Given the description of an element on the screen output the (x, y) to click on. 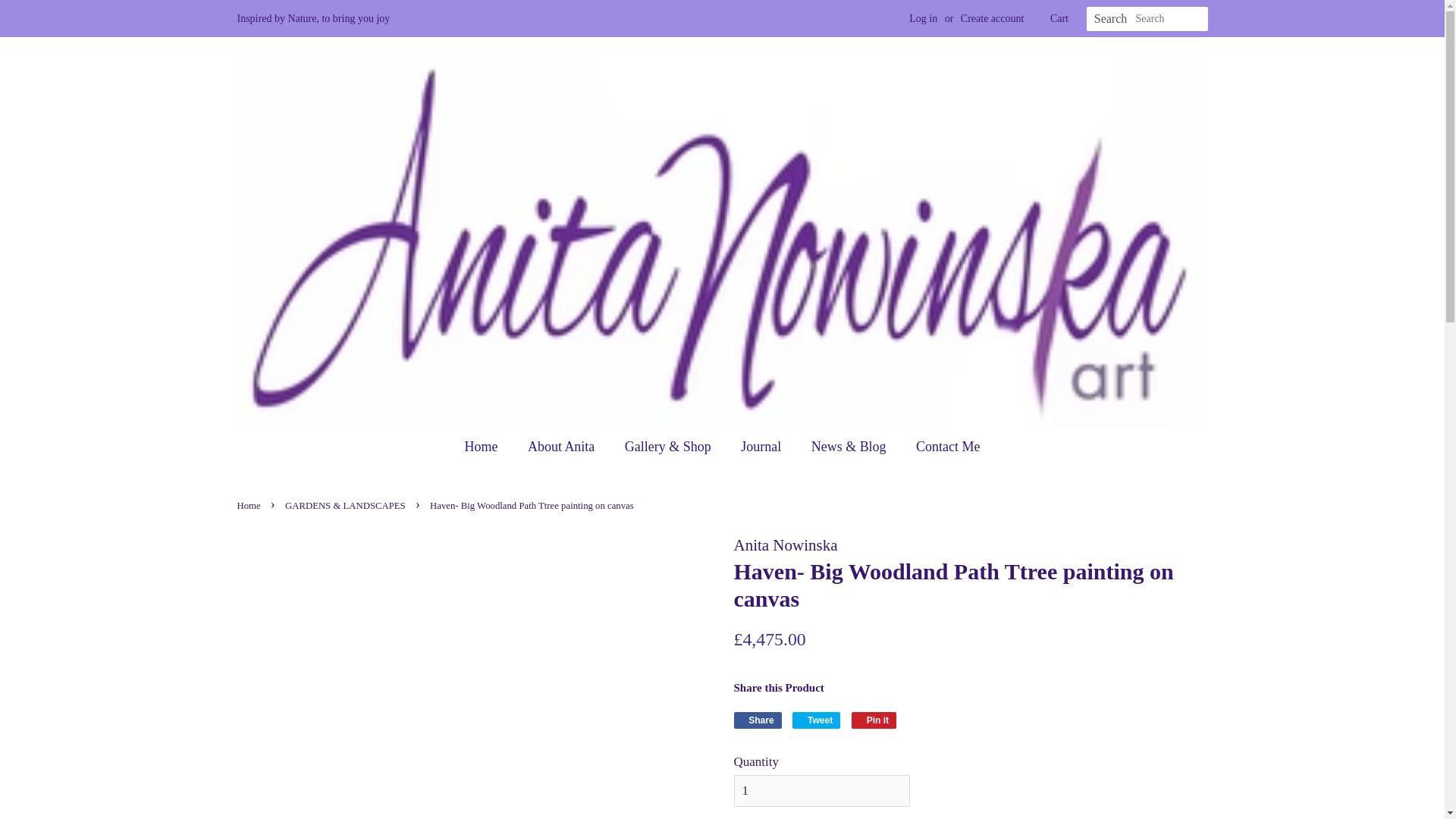
About Anita (563, 446)
Share on Facebook (816, 719)
Pin on Pinterest (757, 719)
Home (873, 719)
1 (249, 505)
Back to the frontpage (821, 790)
Home (249, 505)
Journal (488, 446)
Log in (757, 719)
Tweet on Twitter (762, 446)
Contact Me (922, 18)
Cart (816, 719)
Search (941, 446)
